Given the description of an element on the screen output the (x, y) to click on. 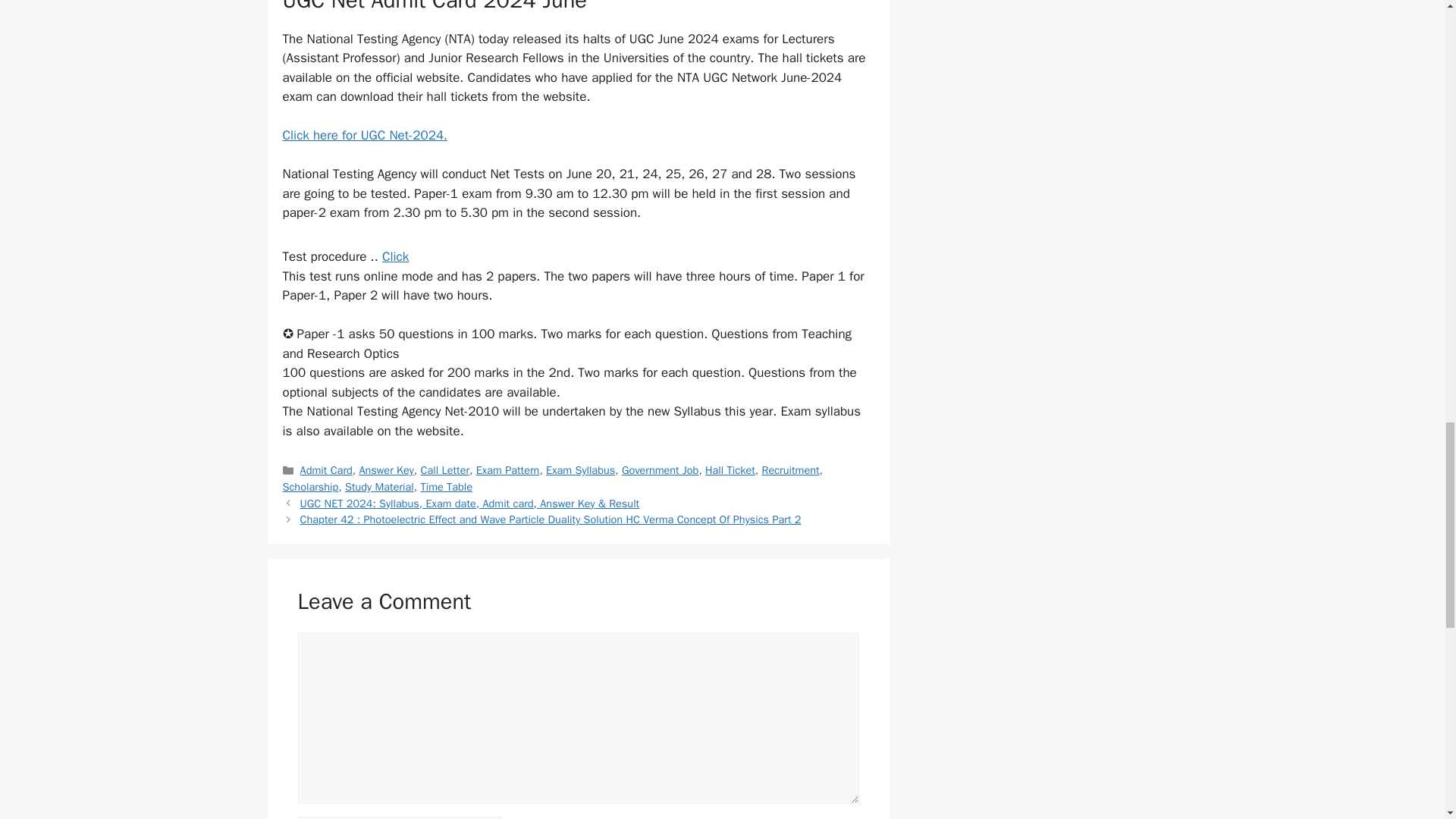
Exam Pattern (508, 469)
Scholarship (309, 486)
Exam Syllabus (580, 469)
Answer Key (385, 469)
Study Material (379, 486)
Recruitment (789, 469)
Click (395, 256)
Click here for UGC Net-2024. (364, 135)
Time Table (445, 486)
Call Letter (445, 469)
